Given the description of an element on the screen output the (x, y) to click on. 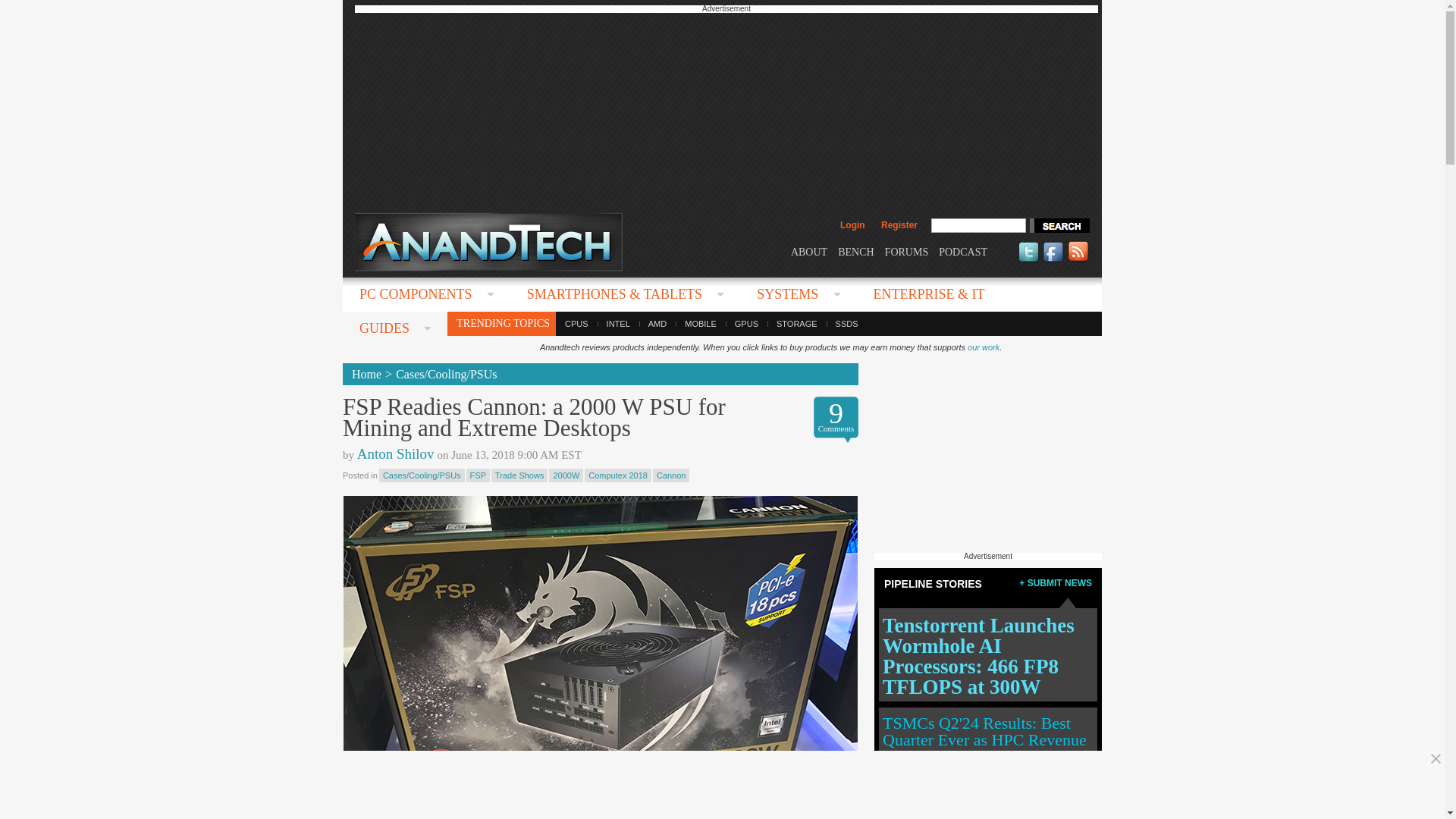
search (1059, 225)
Register (898, 225)
search (1059, 225)
PODCAST (963, 251)
search (1059, 225)
FORUMS (906, 251)
Login (852, 225)
BENCH (855, 251)
ABOUT (808, 251)
